Given the description of an element on the screen output the (x, y) to click on. 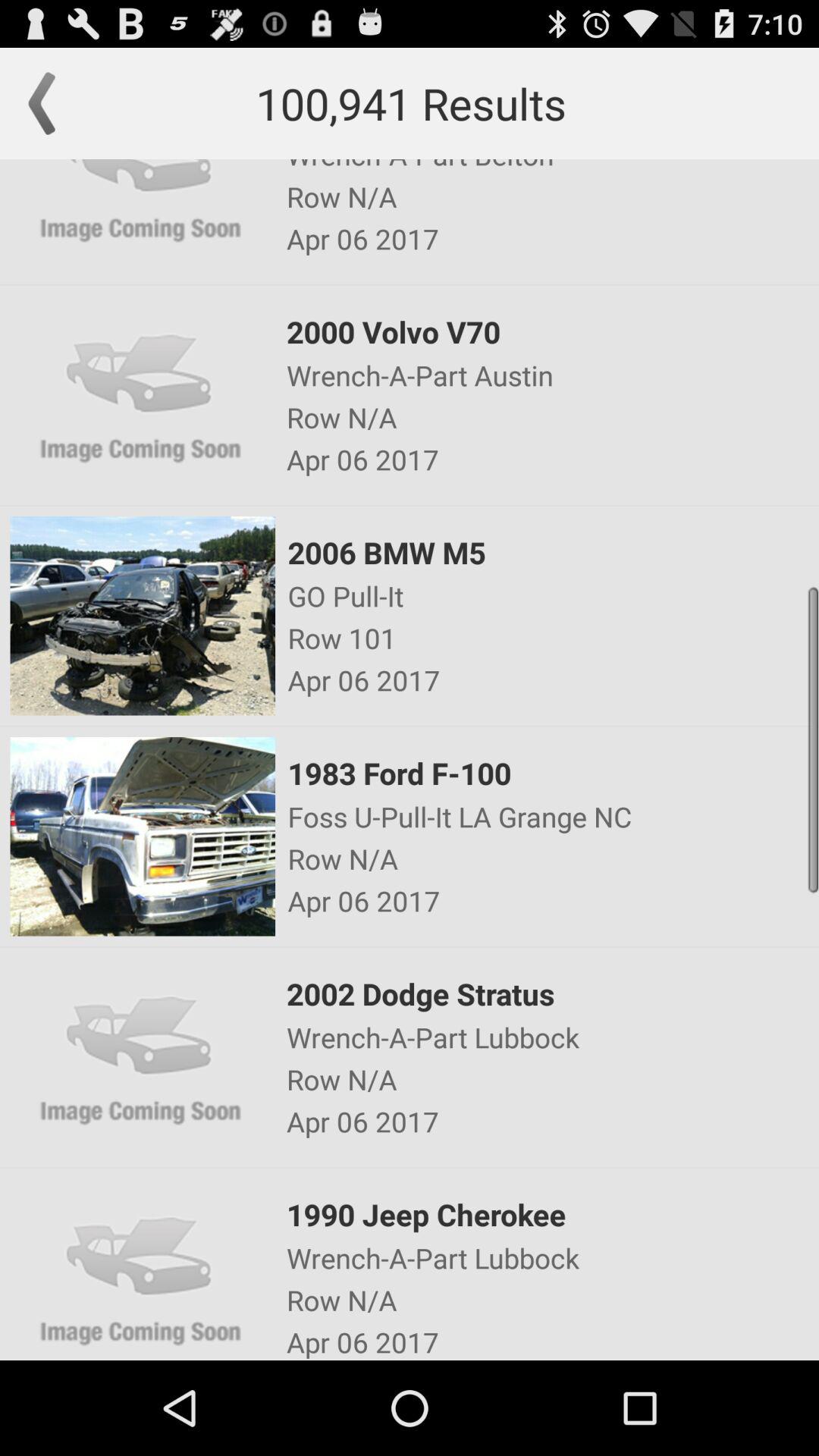
press the 2006 bmw m5 icon (551, 552)
